Given the description of an element on the screen output the (x, y) to click on. 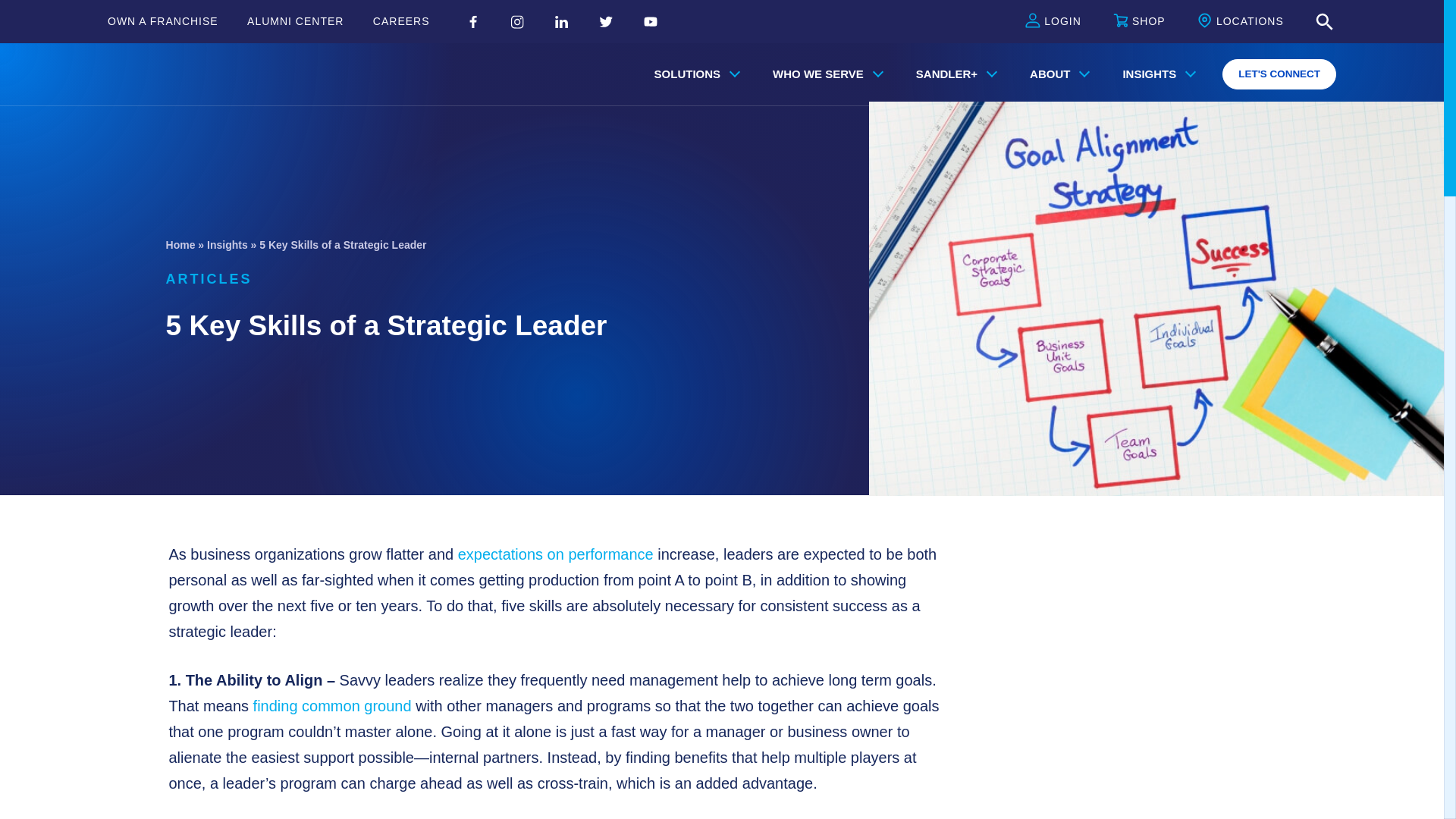
SOLUTIONS (694, 73)
ALUMNI CENTER (295, 21)
SHOP (1139, 22)
LOGIN (1053, 22)
OWN A FRANCHISE (162, 21)
LOCATIONS (1240, 22)
Open Search (1324, 21)
CAREERS (400, 21)
WHO WE SERVE (824, 73)
